Given the description of an element on the screen output the (x, y) to click on. 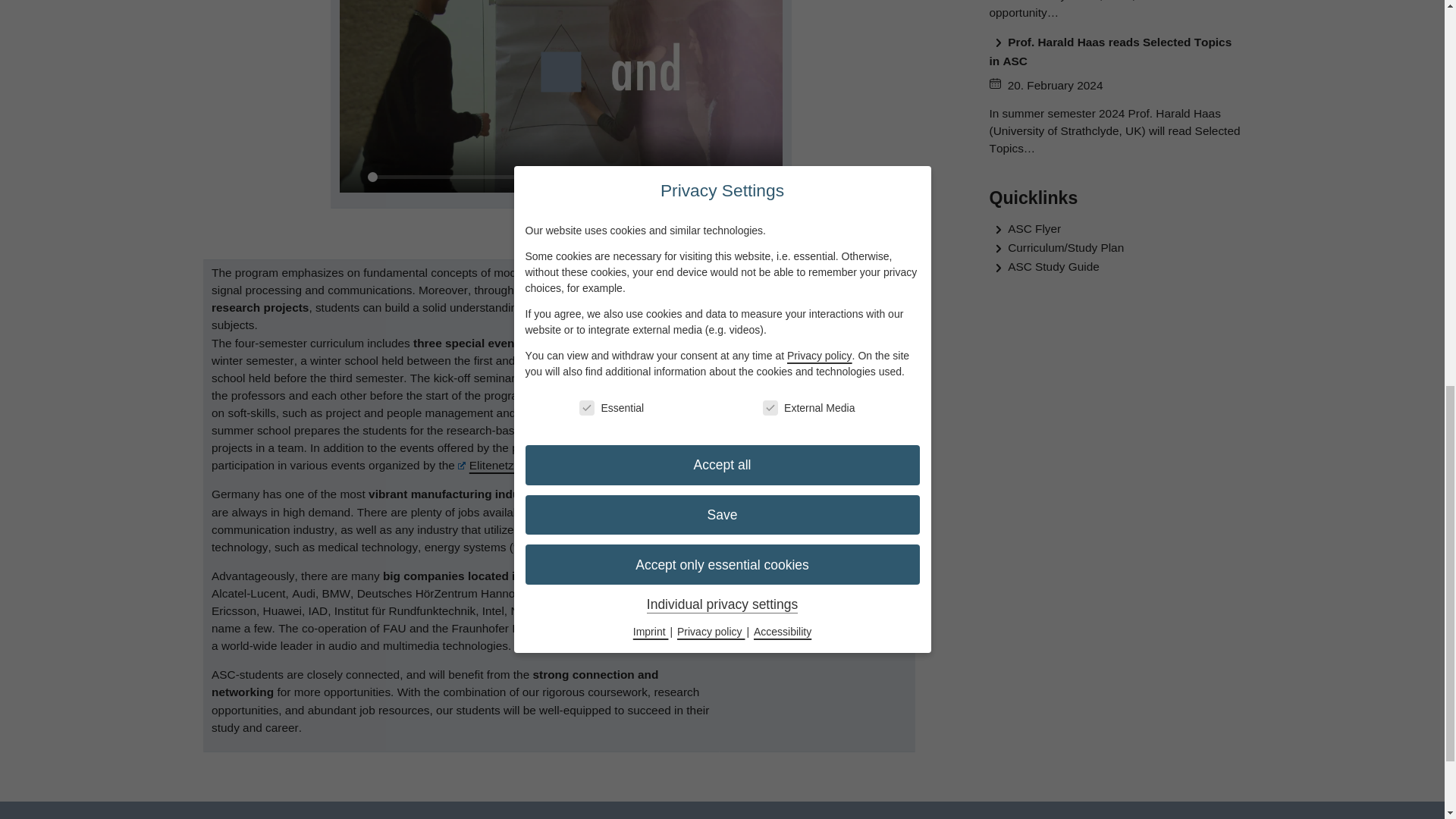
ASC Flyer compact version (835, 603)
ASC Flyer (879, 631)
0 (454, 176)
1 (639, 176)
